Given the description of an element on the screen output the (x, y) to click on. 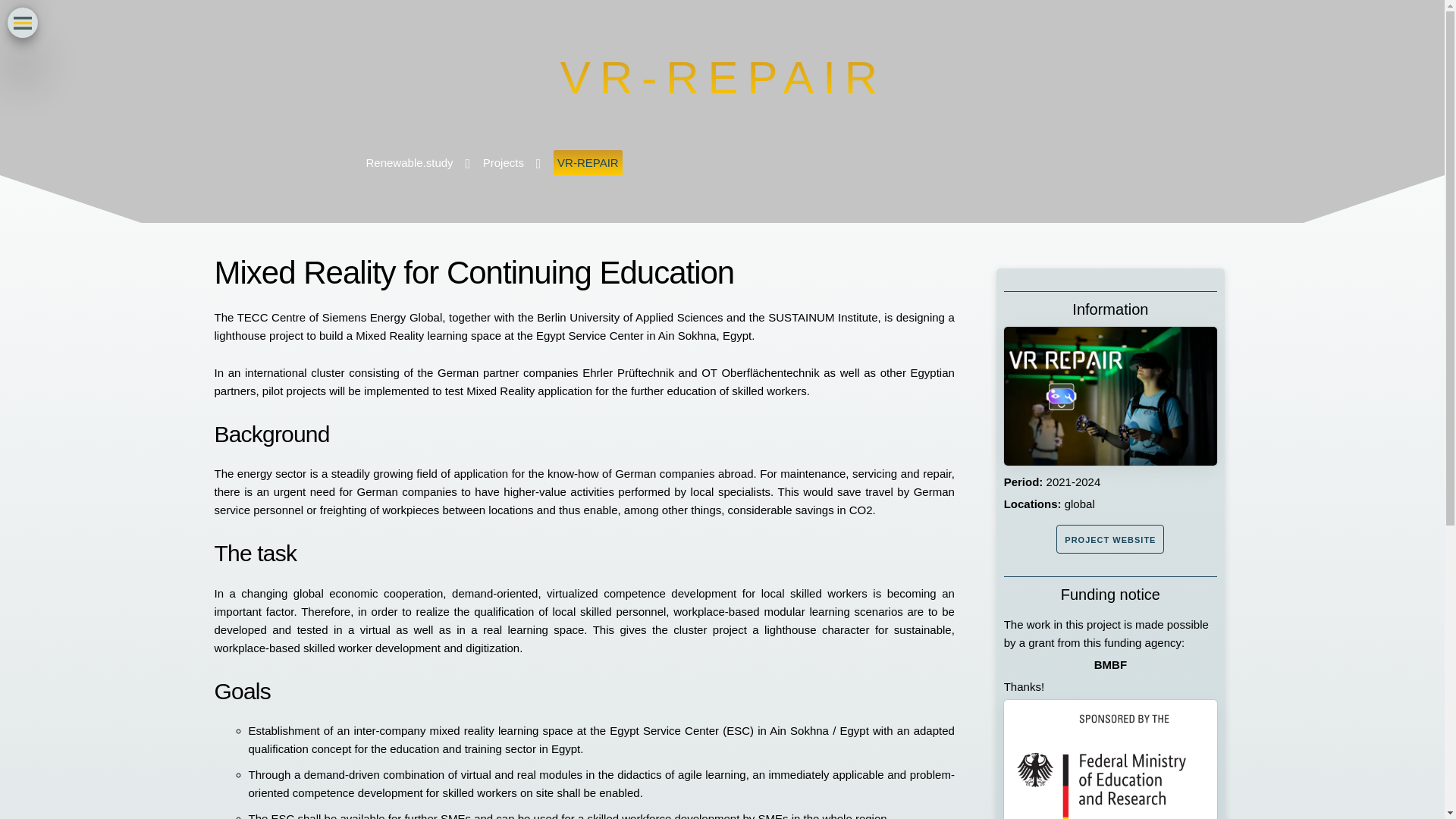
Resources (68, 454)
Projects (507, 162)
Deutsch (103, 541)
Renewable.study (412, 162)
VR-REPAIR Logo (1110, 396)
Renewable.study (84, 387)
Cluster (58, 487)
PROJECT WEBSITE (1110, 538)
Projects (60, 420)
